Given the description of an element on the screen output the (x, y) to click on. 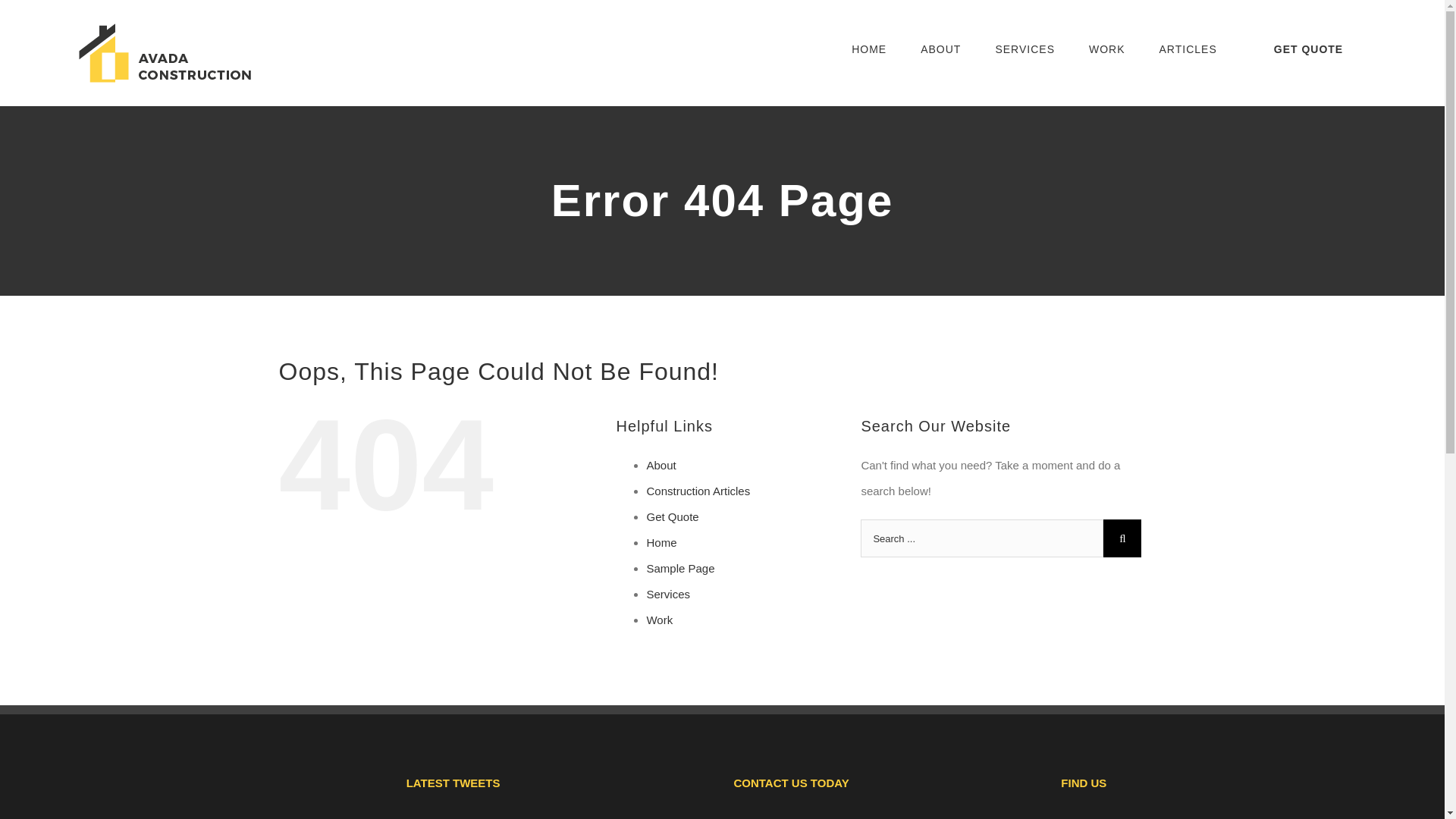
Sample Page (680, 567)
GET QUOTE (1307, 49)
Services (668, 594)
Work (659, 619)
Get Quote (672, 516)
Construction Articles (697, 490)
About (660, 464)
Home (661, 542)
